Given the description of an element on the screen output the (x, y) to click on. 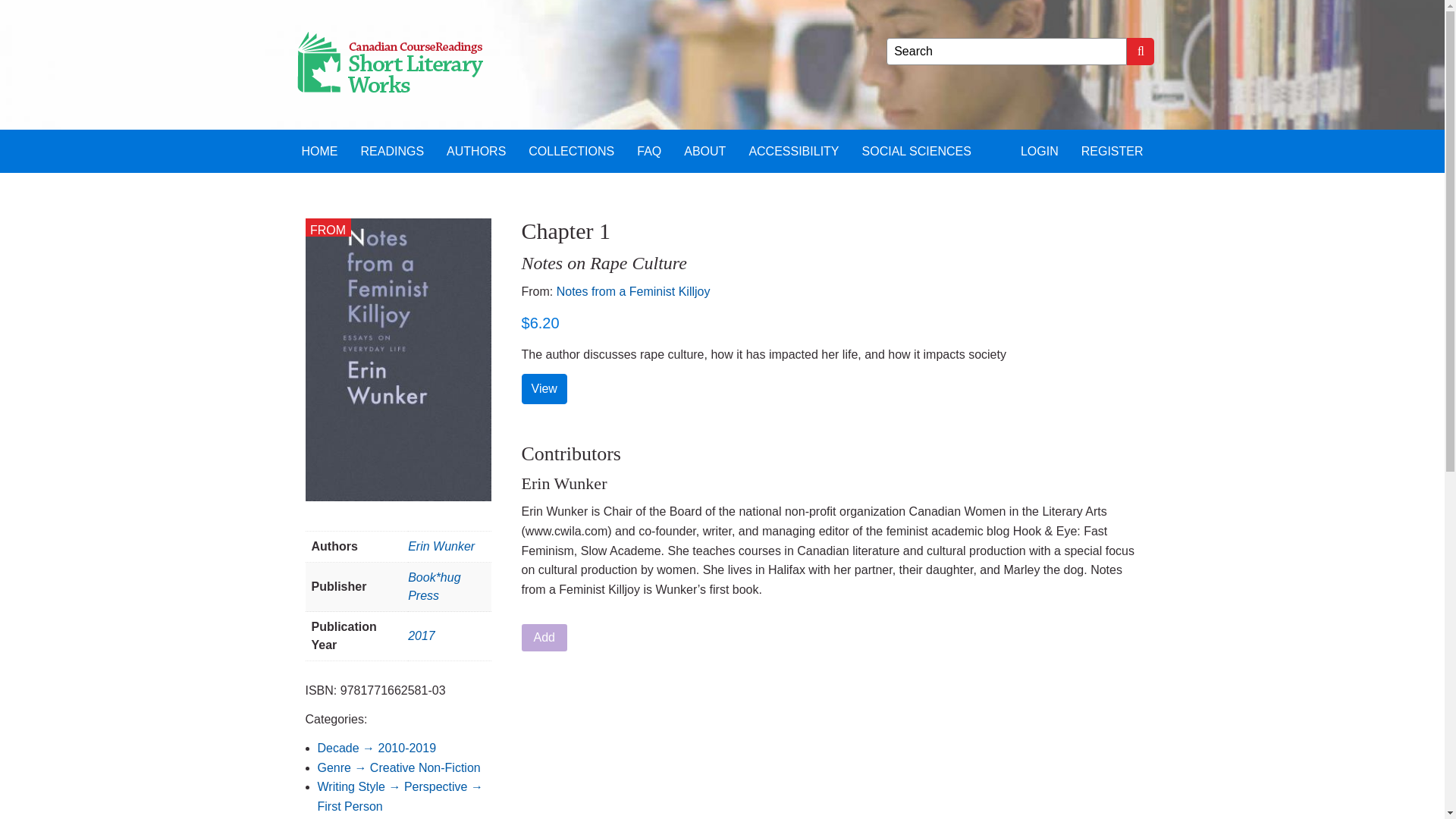
COLLECTIONS (571, 150)
Register (1112, 150)
Erin Wunker (440, 545)
Home (319, 150)
Add (544, 637)
LOGIN (1039, 150)
REGISTER (1112, 150)
READINGS (392, 150)
2017 (421, 635)
FAQ (649, 150)
